Given the description of an element on the screen output the (x, y) to click on. 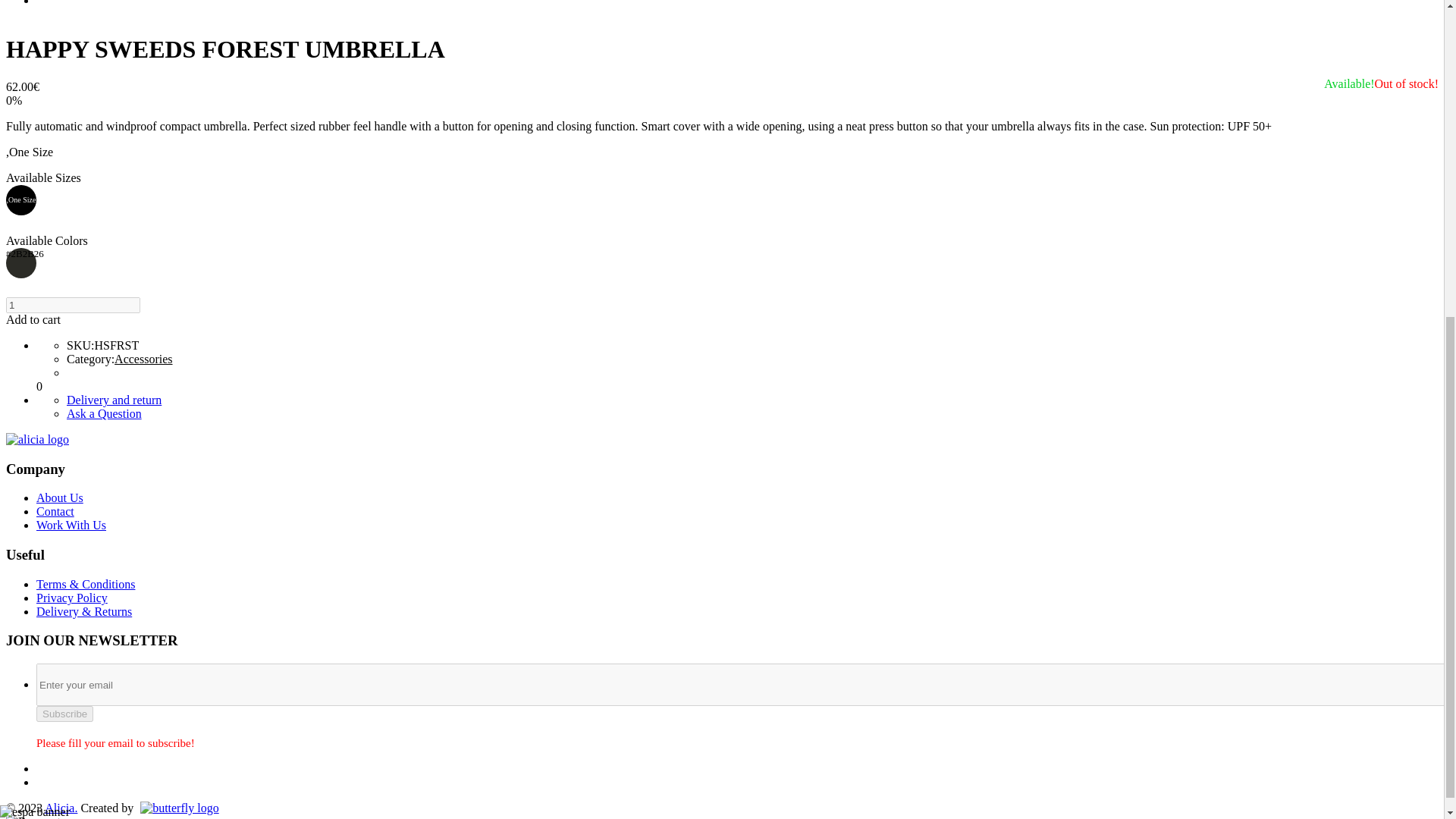
BLACK  (20, 263)
1 (72, 304)
